Given the description of an element on the screen output the (x, y) to click on. 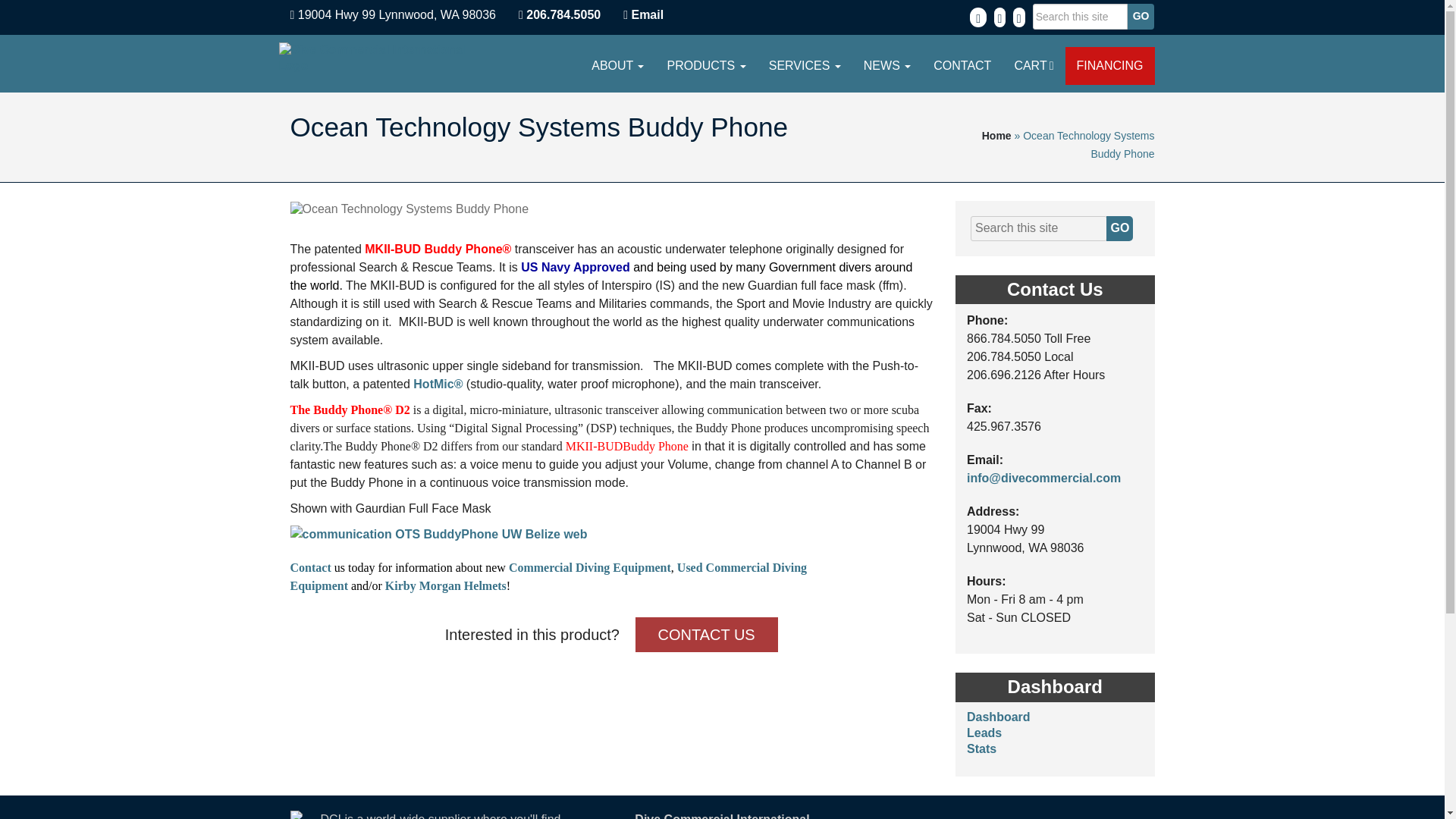
About (617, 65)
GO (1119, 228)
Products (706, 65)
Go (1140, 16)
206.784.5050 (558, 14)
Go (1140, 16)
GO (1119, 228)
Email (646, 14)
Go (1140, 16)
